Given the description of an element on the screen output the (x, y) to click on. 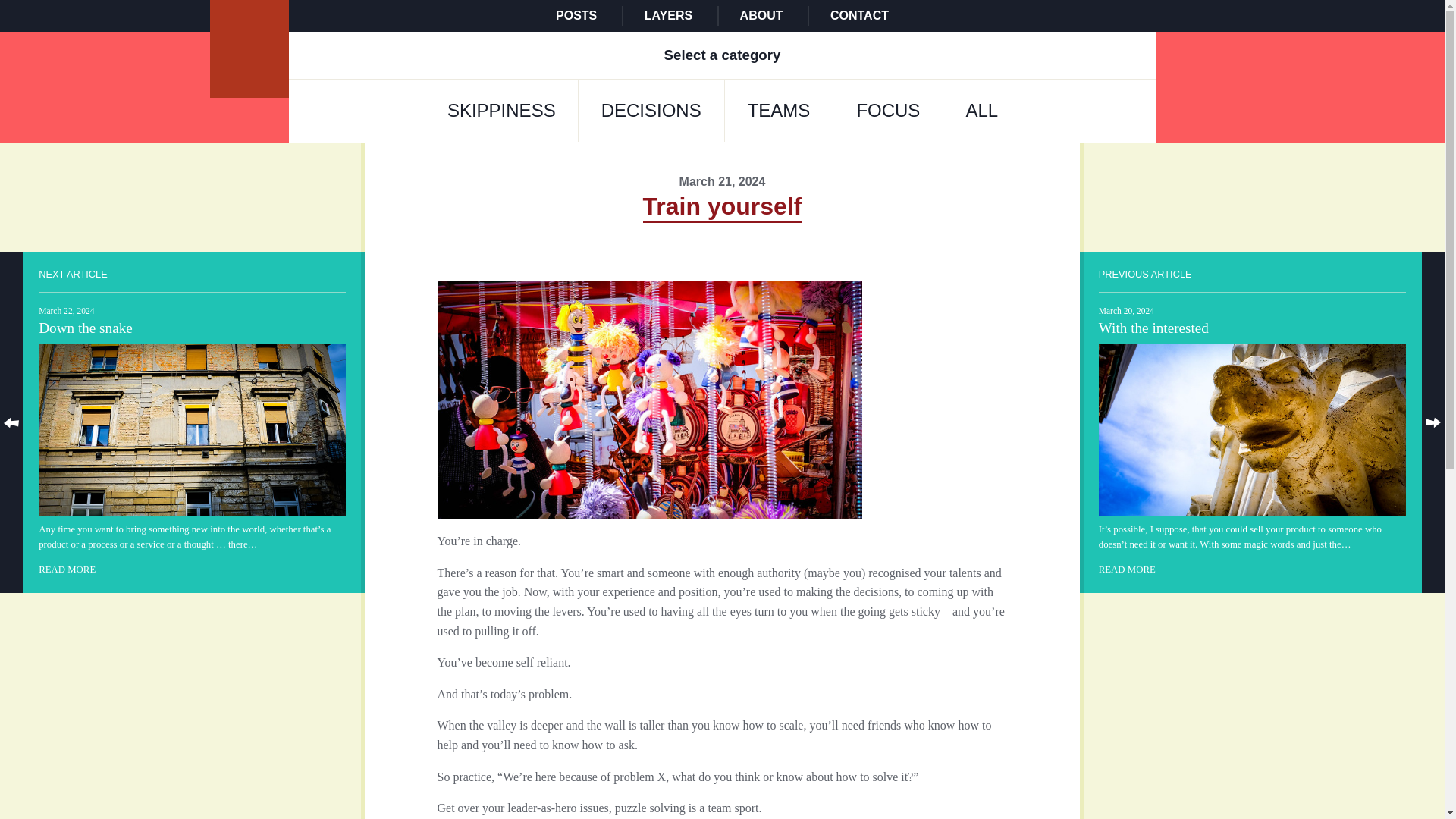
SKIPPINESS (501, 110)
DECISIONS (651, 110)
TEAMS (778, 110)
CONTACT (858, 15)
FOCUS (887, 110)
POSTS (576, 15)
LAYERS (669, 15)
Down the snake (192, 420)
ALL (981, 110)
With the interested (1252, 420)
